Given the description of an element on the screen output the (x, y) to click on. 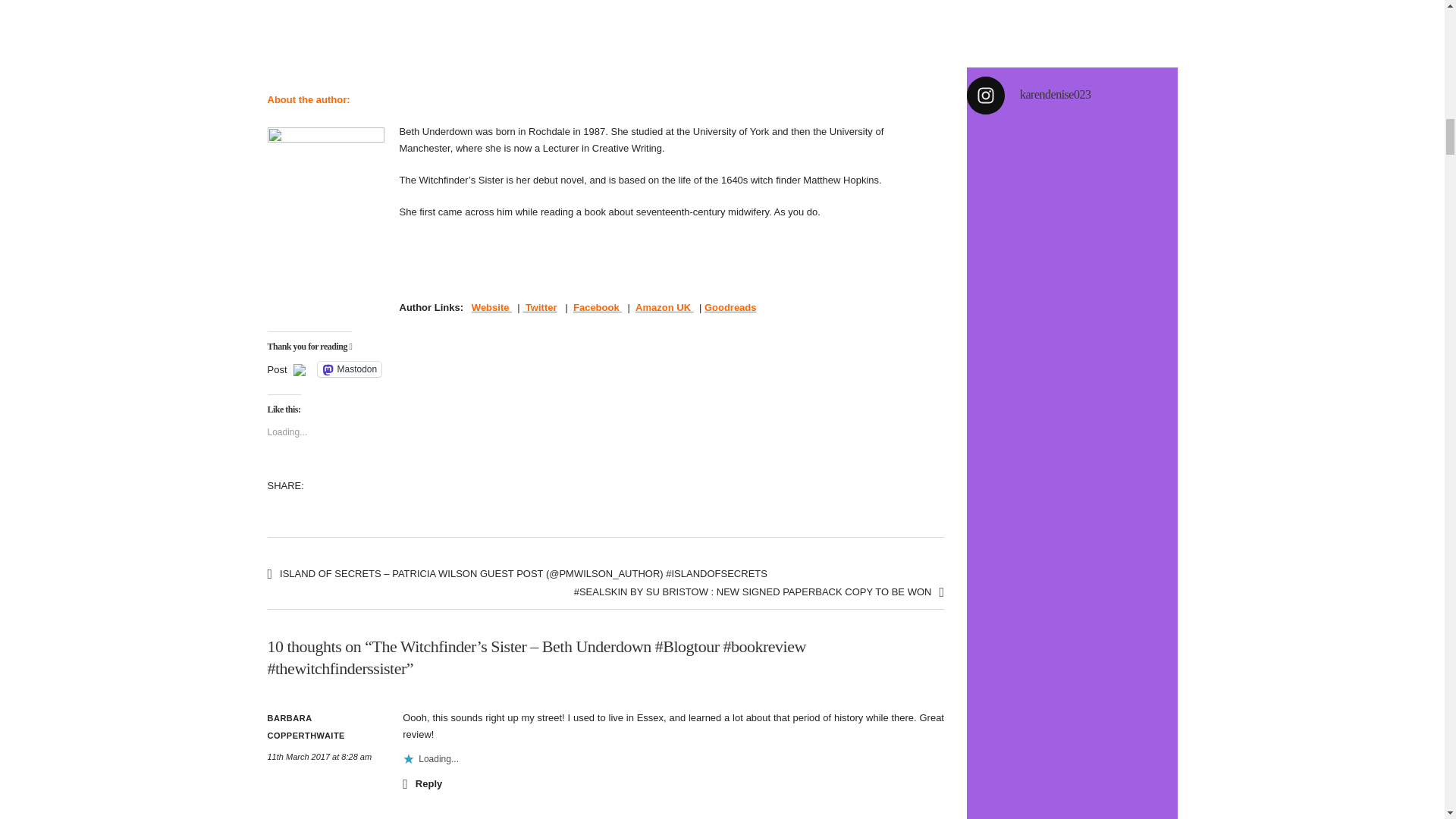
Click to share on Mastodon (349, 368)
 Twitter (539, 307)
Facebook (597, 307)
Website (491, 307)
Post (276, 368)
Mastodon (349, 368)
Amazon UK (664, 307)
Goodreads (730, 307)
